Given the description of an element on the screen output the (x, y) to click on. 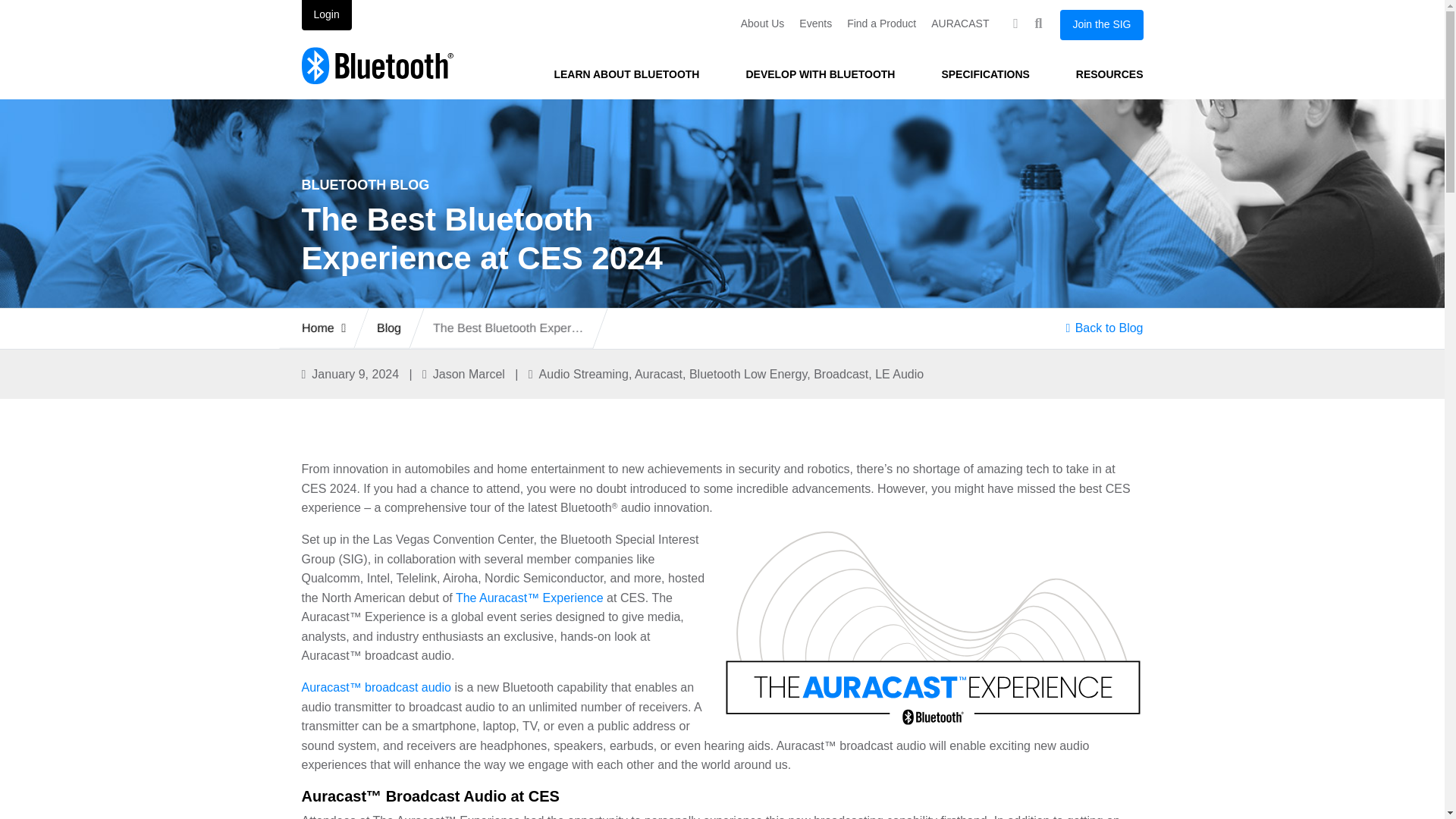
Language (1015, 23)
Login (326, 15)
Join the SIG (1100, 24)
LEARN ABOUT BLUETOOTH (626, 74)
Search (1037, 23)
2302 Auracast Experience Long Color (932, 627)
